Given the description of an element on the screen output the (x, y) to click on. 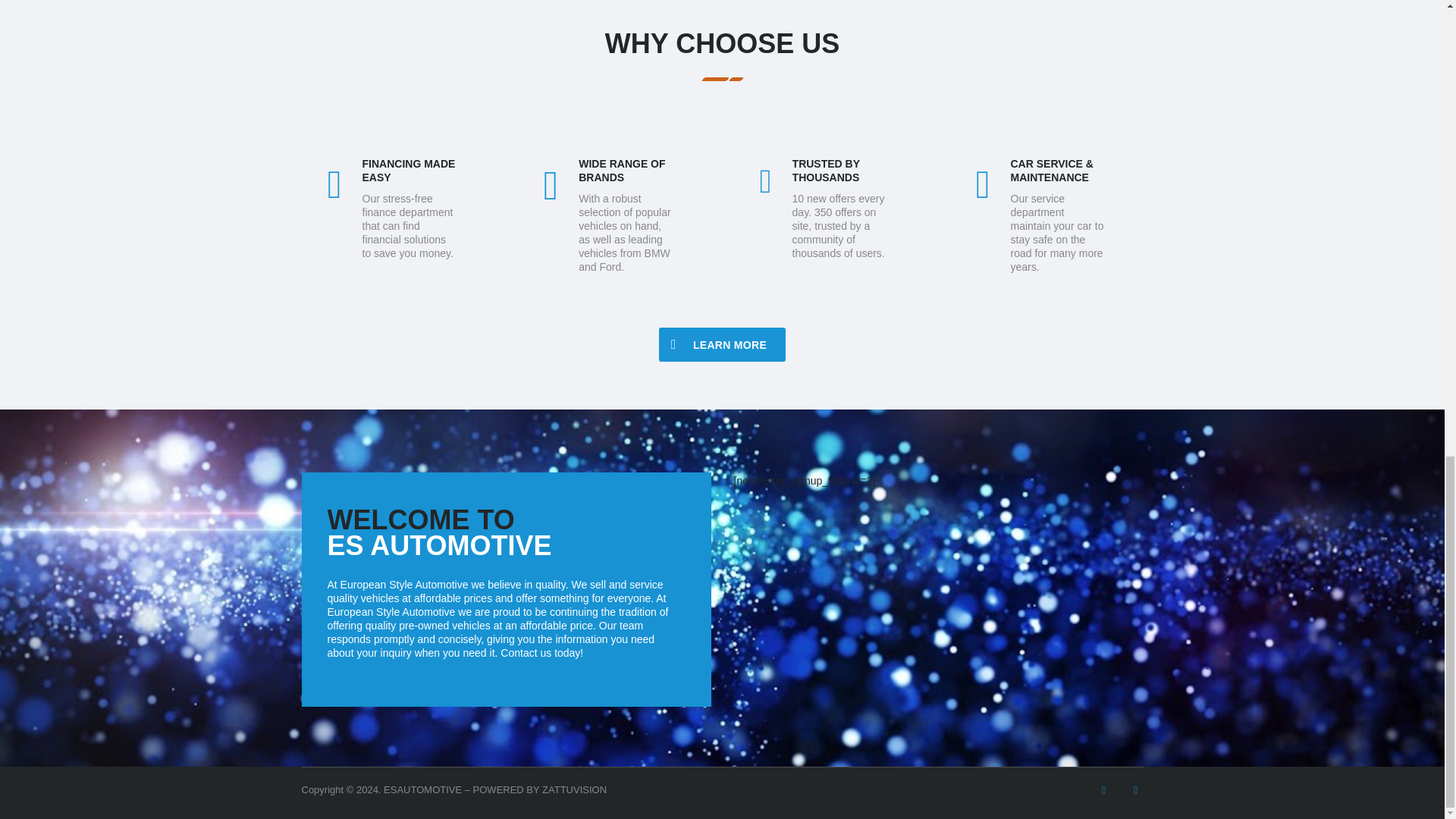
Learn More (722, 344)
LEARN MORE (722, 344)
